Given the description of an element on the screen output the (x, y) to click on. 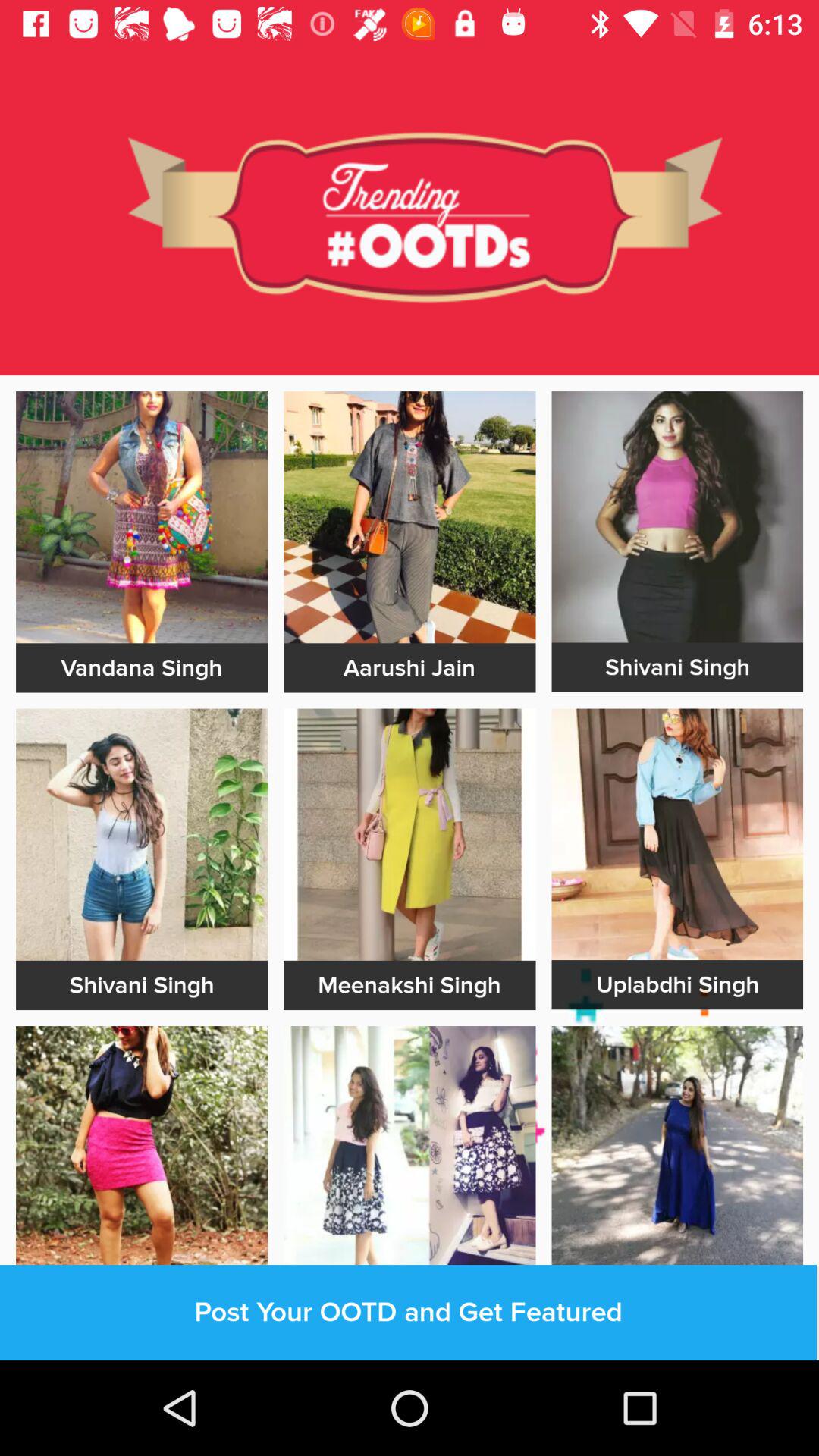
photo page (141, 517)
